Given the description of an element on the screen output the (x, y) to click on. 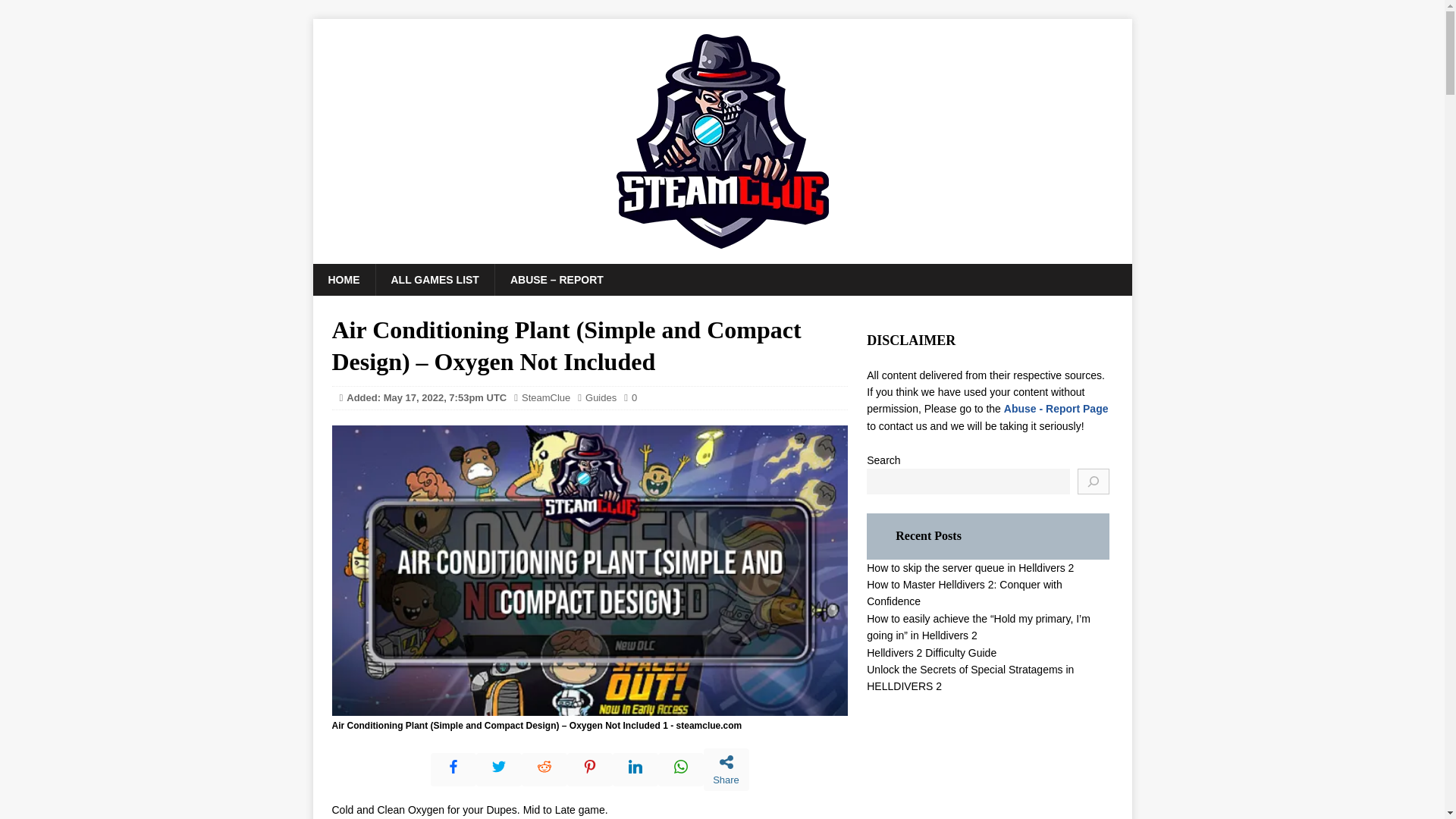
Share on Share (726, 769)
Share (726, 769)
Abuse - Report Page (1056, 408)
Share on Reddit (544, 769)
SteamClue (545, 397)
Share on WhatsApp (680, 769)
Unlock the Secrets of Special Stratagems in HELLDIVERS 2 (970, 677)
Share on Pinterest (589, 769)
Share on Facebook (453, 769)
Share on Twitter (498, 769)
How to Master Helldivers 2: Conquer with Confidence (964, 592)
How to skip the server queue in Helldivers 2 (970, 567)
Helldivers 2 Difficulty Guide (930, 653)
HOME (343, 279)
Share on LinkedIn (635, 769)
